Given the description of an element on the screen output the (x, y) to click on. 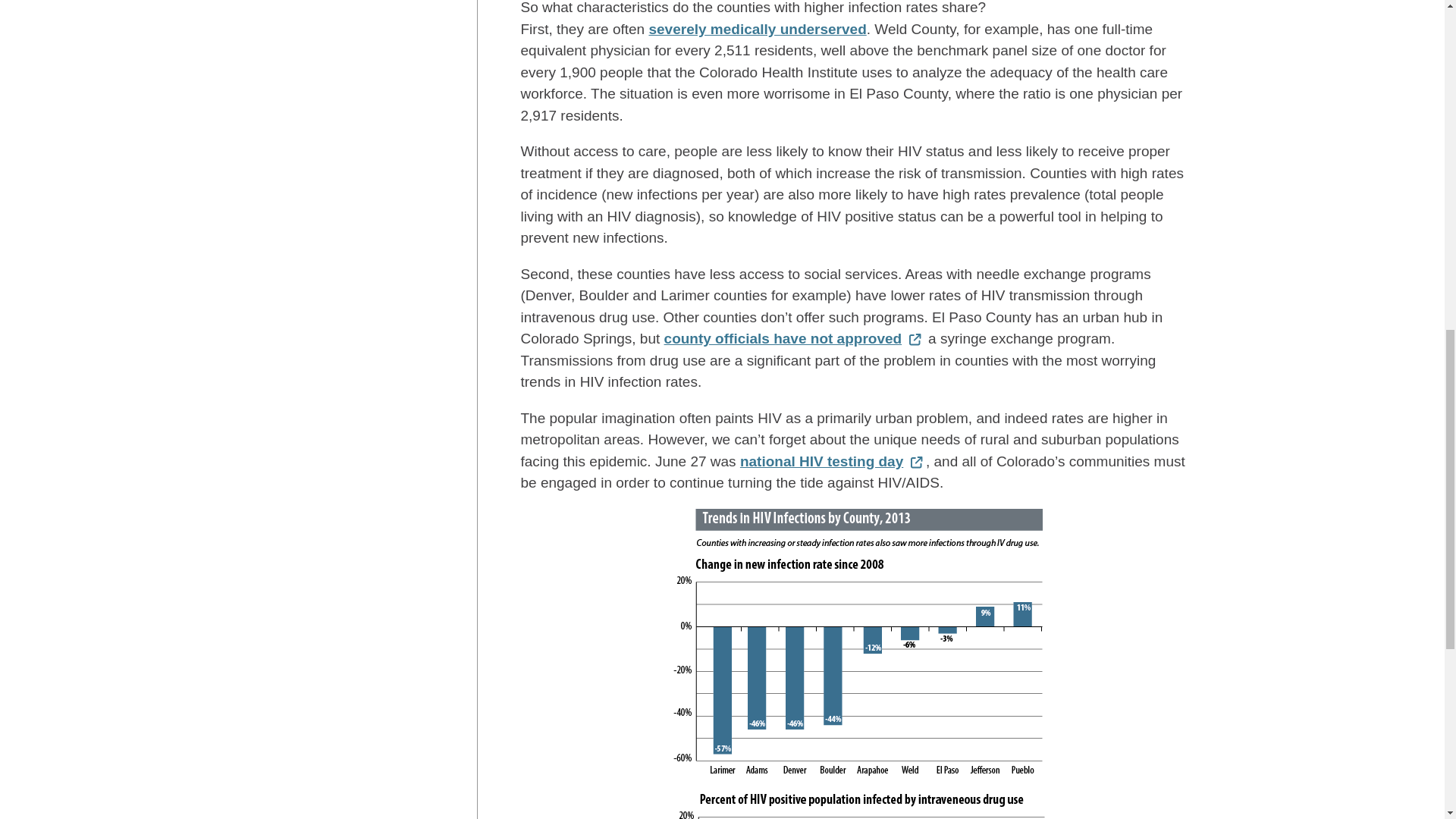
national HIV testing day (832, 461)
severely medically underserved (756, 28)
county officials have not approved (793, 338)
